Given the description of an element on the screen output the (x, y) to click on. 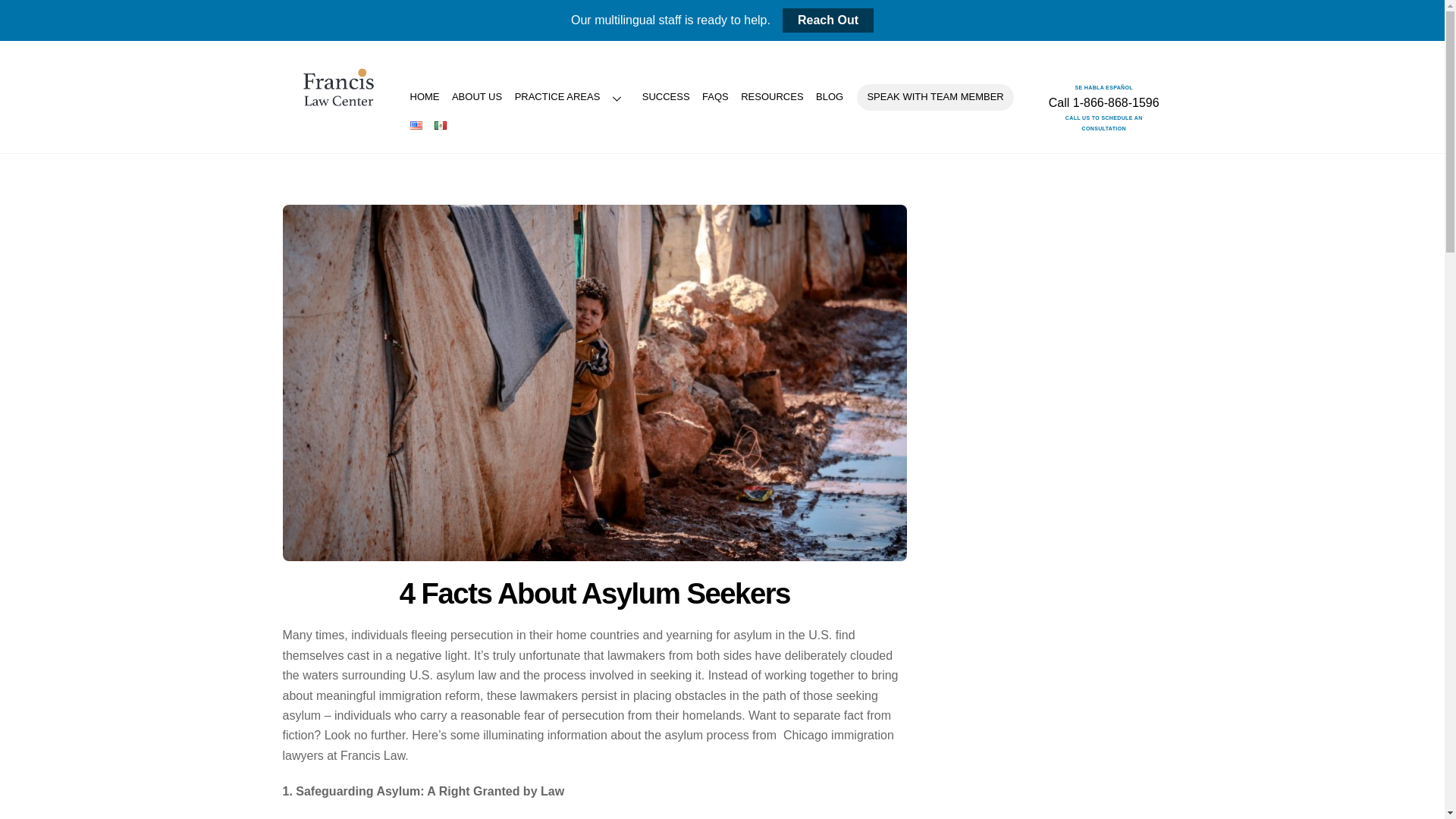
Reach Out (828, 20)
SPEAK WITH TEAM MEMBER (935, 96)
Front 2022 (337, 88)
SUCCESS (665, 96)
RESOURCES (772, 96)
ABOUT US (476, 96)
PRACTICE AREAS (572, 96)
HOME (424, 96)
4 Facts About Asylum Seekers (594, 593)
FAQS (715, 96)
Chicago Immigration Lawyer (337, 113)
BLOG (828, 96)
